Given the description of an element on the screen output the (x, y) to click on. 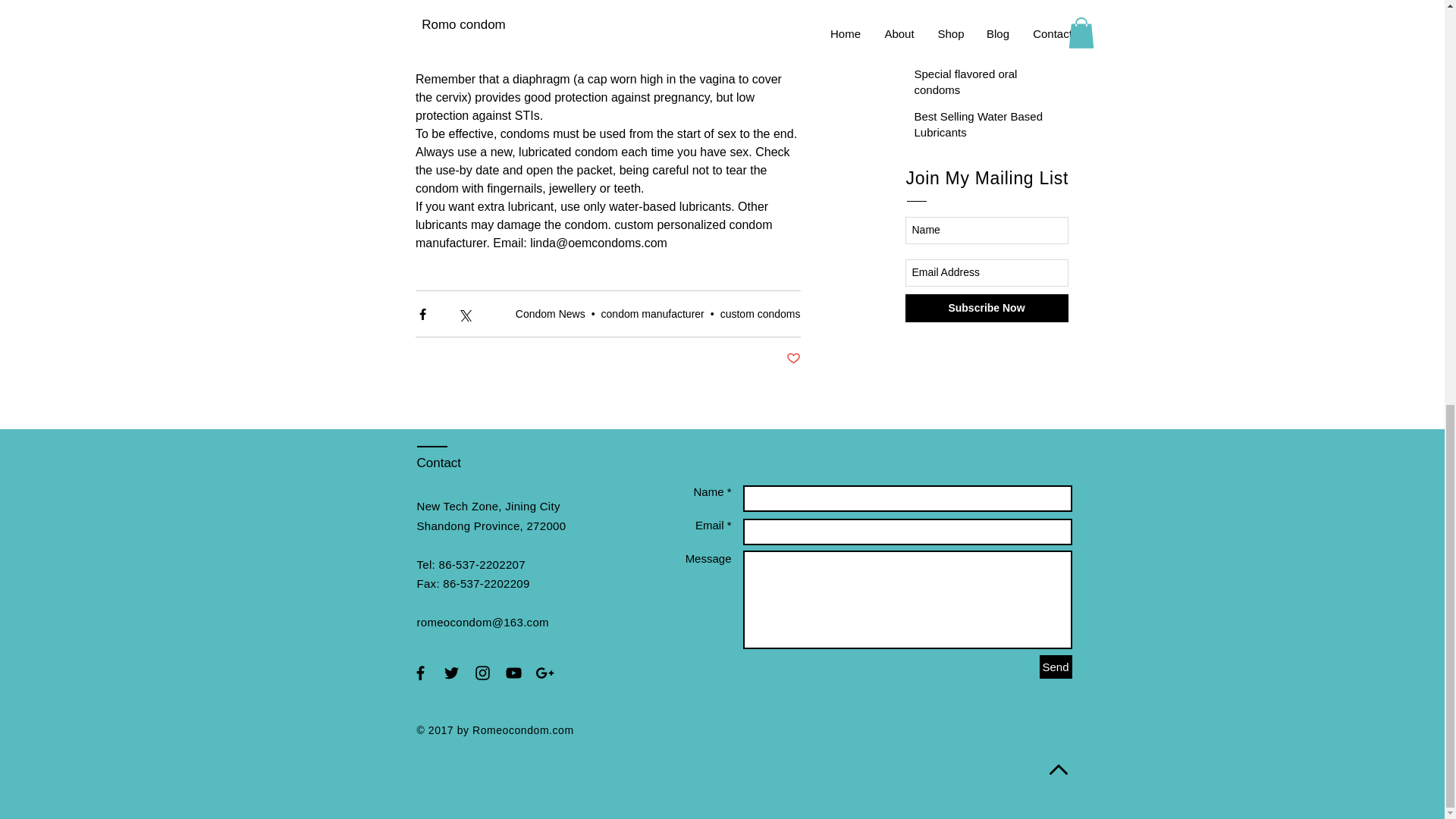
custom condoms (760, 313)
Special flavored oral condoms (982, 85)
Subscribe Now (986, 308)
perfume flavored ultra thin condoms manufacturer (982, 9)
Best Selling Water Based Lubricants (982, 127)
Condom News (550, 313)
Send (1055, 666)
condom manufacturer (652, 313)
Post not marked as liked (792, 358)
